Given the description of an element on the screen output the (x, y) to click on. 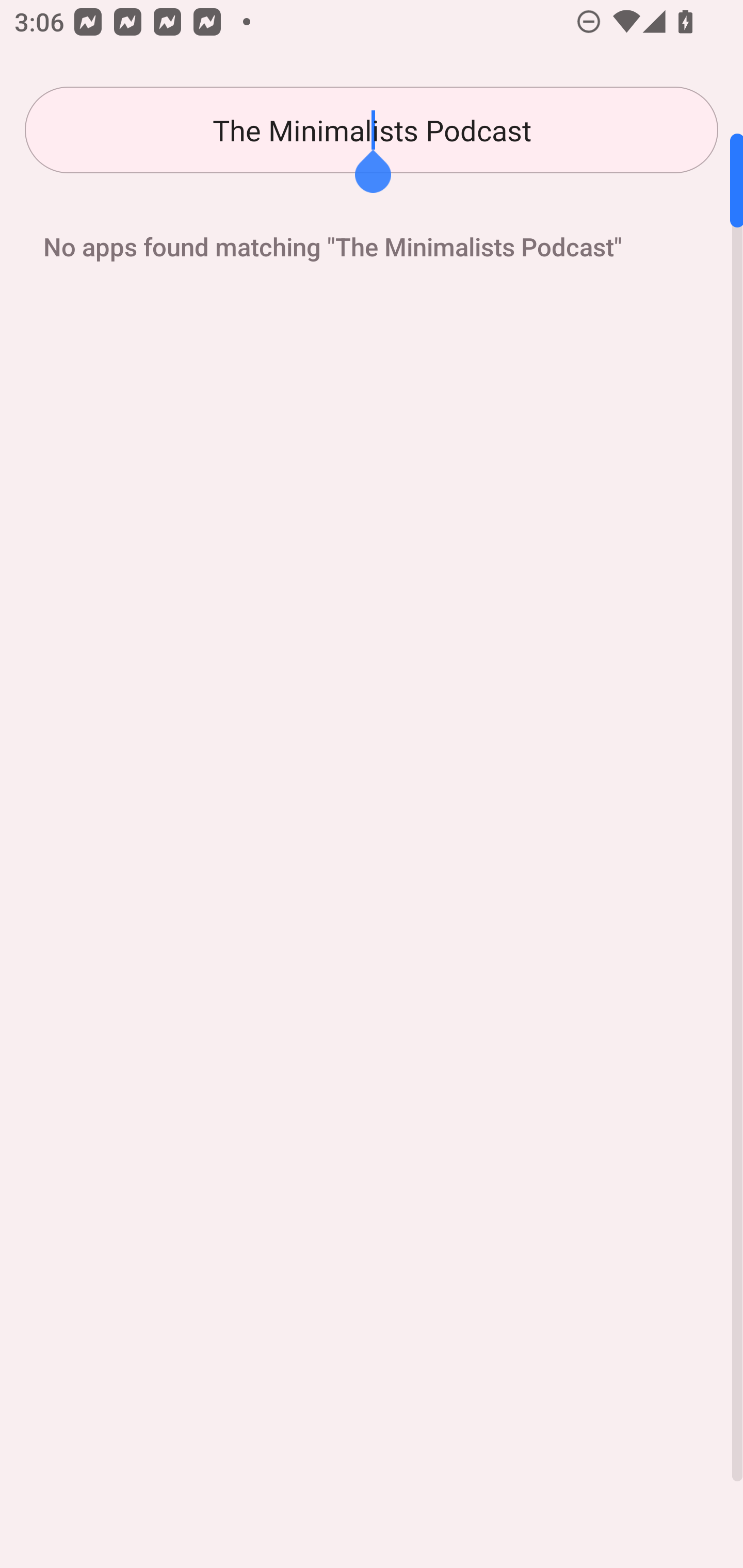
The Minimalists Podcast (371, 130)
